Given the description of an element on the screen output the (x, y) to click on. 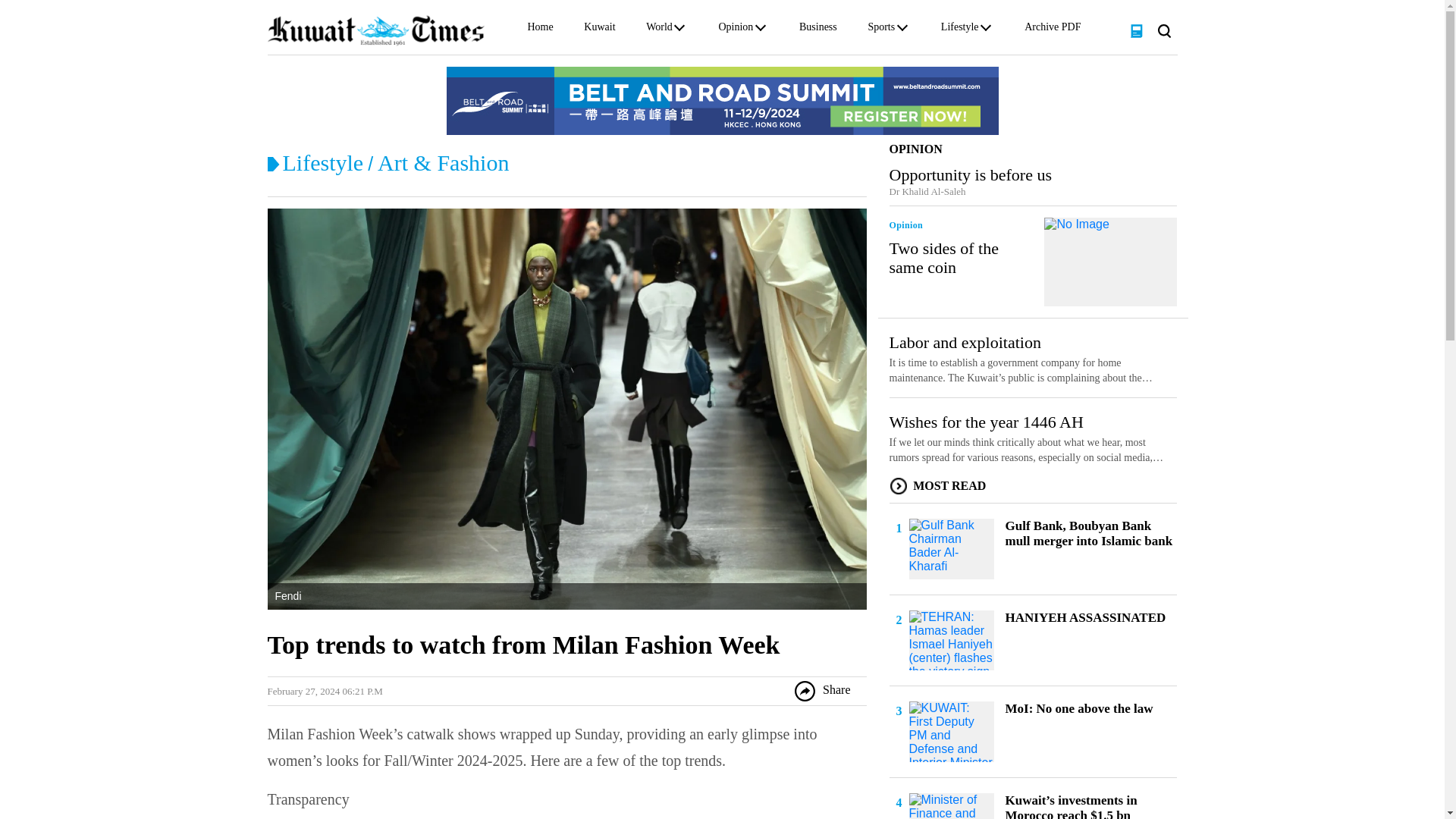
Kuwait (598, 29)
Kuwait (598, 29)
kuwaittimes.com (374, 29)
Sports (881, 29)
Archive PDF (1052, 29)
pdf (1136, 29)
Lifestyle (959, 29)
Opinion (734, 29)
Lifestyle (322, 162)
Business (818, 29)
